Given the description of an element on the screen output the (x, y) to click on. 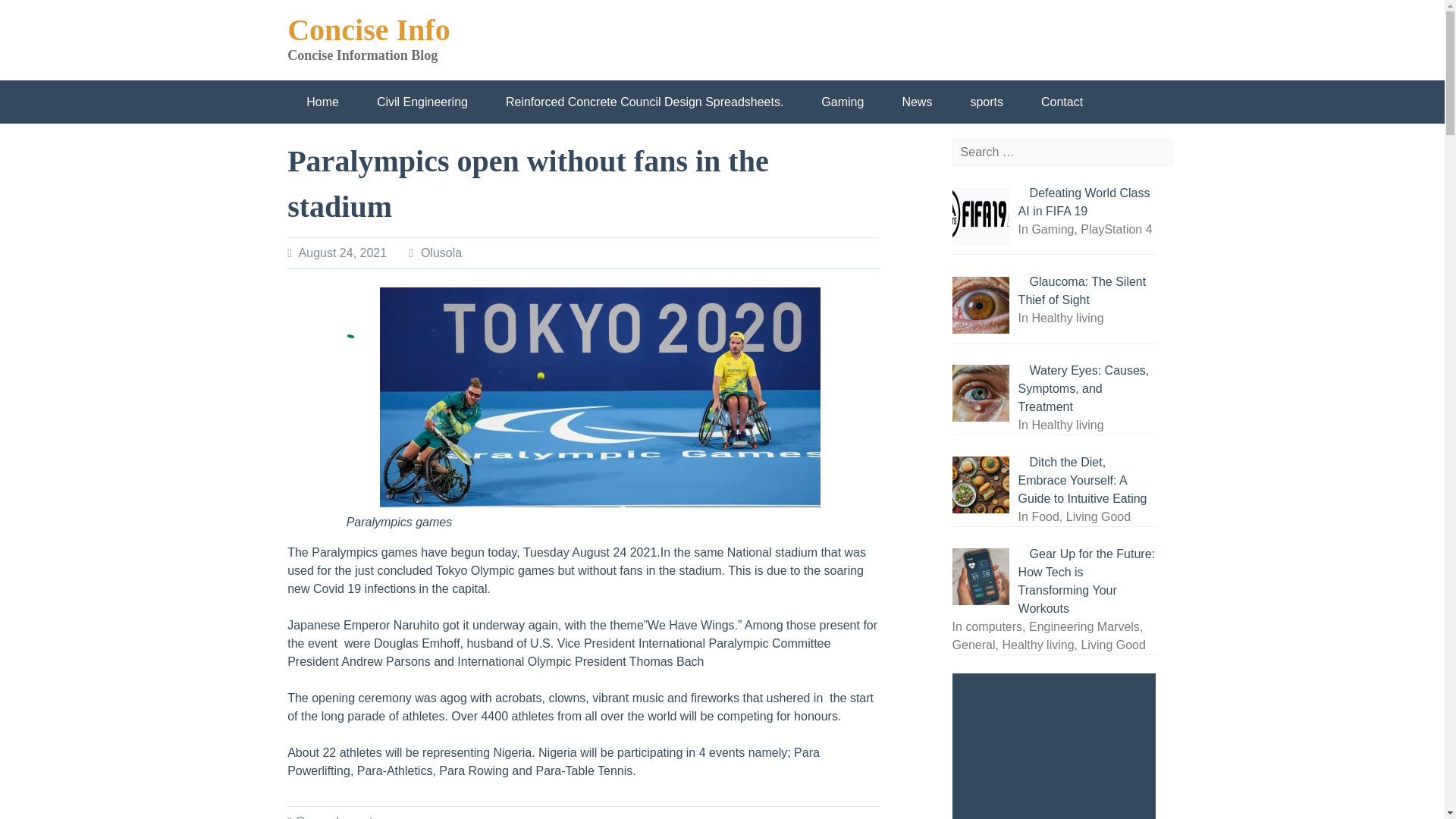
About Me (331, 145)
Olusola (440, 252)
sports (362, 816)
Defeating World Class AI in FIFA 19 (1083, 201)
Glaucoma: The Silent Thief of Sight (1082, 290)
Concise Info (367, 29)
News (916, 101)
Reinforced Concrete Council Design Spreadsheets. (644, 101)
Watery Eyes: Causes, Symptoms, and Treatment (1083, 388)
Gaming (842, 101)
Home (322, 101)
General (317, 816)
Search (443, 9)
August 24, 2021 (342, 252)
